Given the description of an element on the screen output the (x, y) to click on. 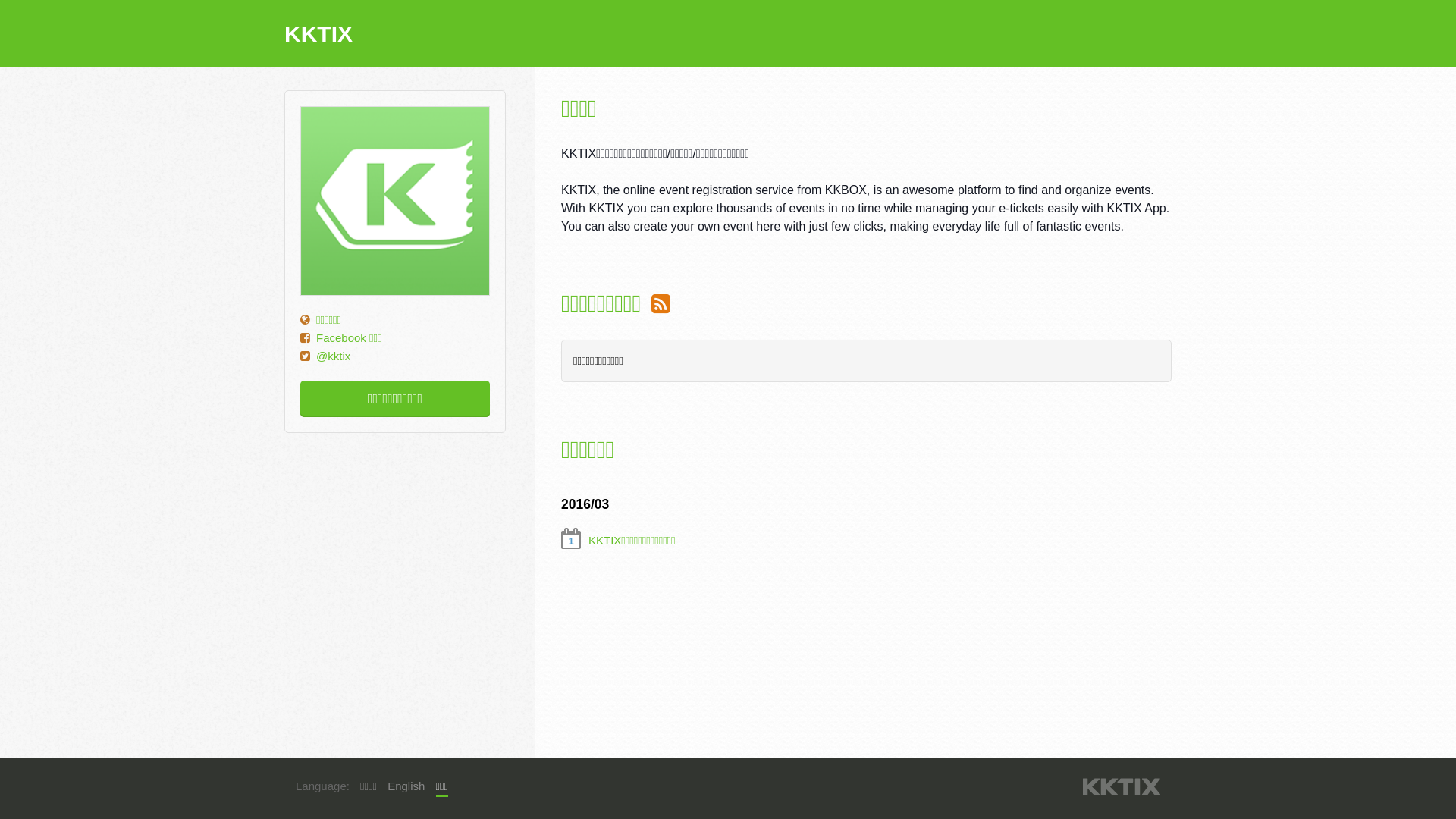
Organization Events RSS Element type: hover (660, 302)
KKTIX Element type: text (1121, 786)
@kktix Element type: text (333, 355)
English Element type: text (405, 786)
